Given the description of an element on the screen output the (x, y) to click on. 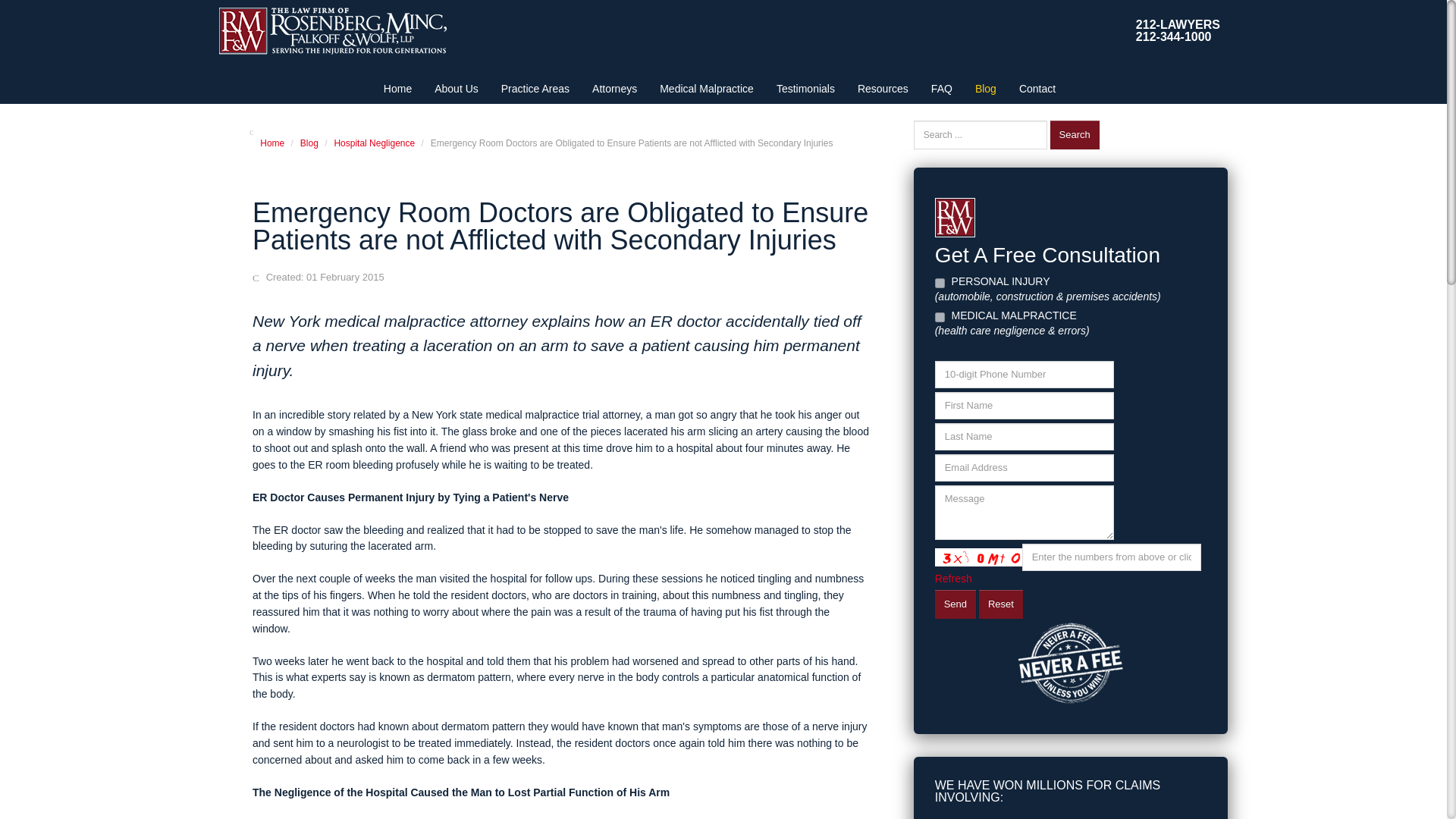
Attorneys (613, 88)
212-344-1000 (1173, 36)
Practice Areas (534, 88)
Medical Malpractice (706, 88)
About Us (456, 88)
Home (397, 88)
